Given the description of an element on the screen output the (x, y) to click on. 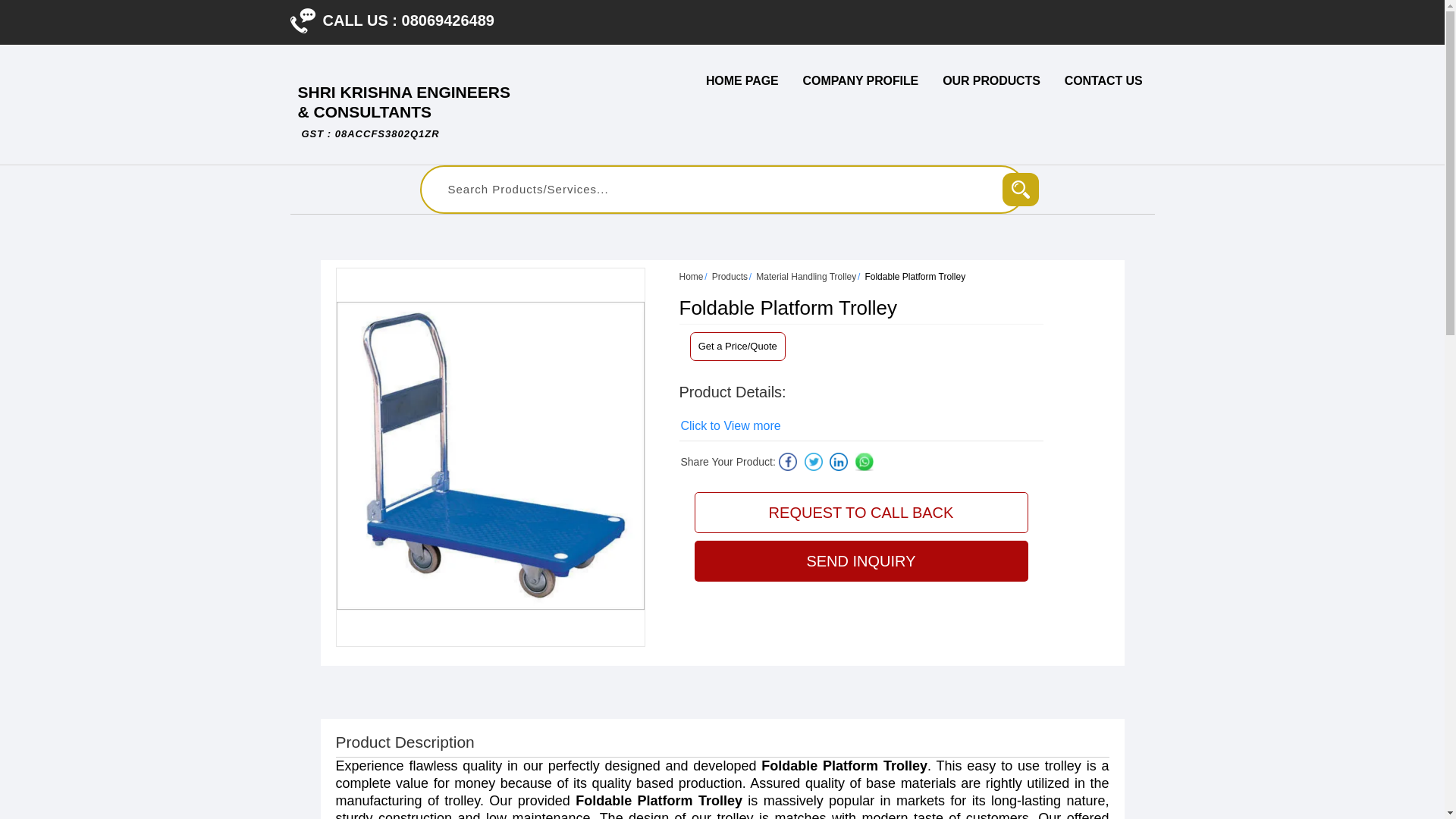
HOME PAGE (742, 81)
Material Handling Trolley (805, 276)
Home (691, 276)
Search (1021, 189)
submit (1021, 189)
REQUEST TO CALL BACK (860, 512)
Products (729, 276)
SEND INQUIRY (860, 560)
CONTACT US (1103, 81)
OUR PRODUCTS (991, 81)
Call Us (301, 20)
Click to View more (730, 425)
COMPANY PROFILE (860, 81)
